Given the description of an element on the screen output the (x, y) to click on. 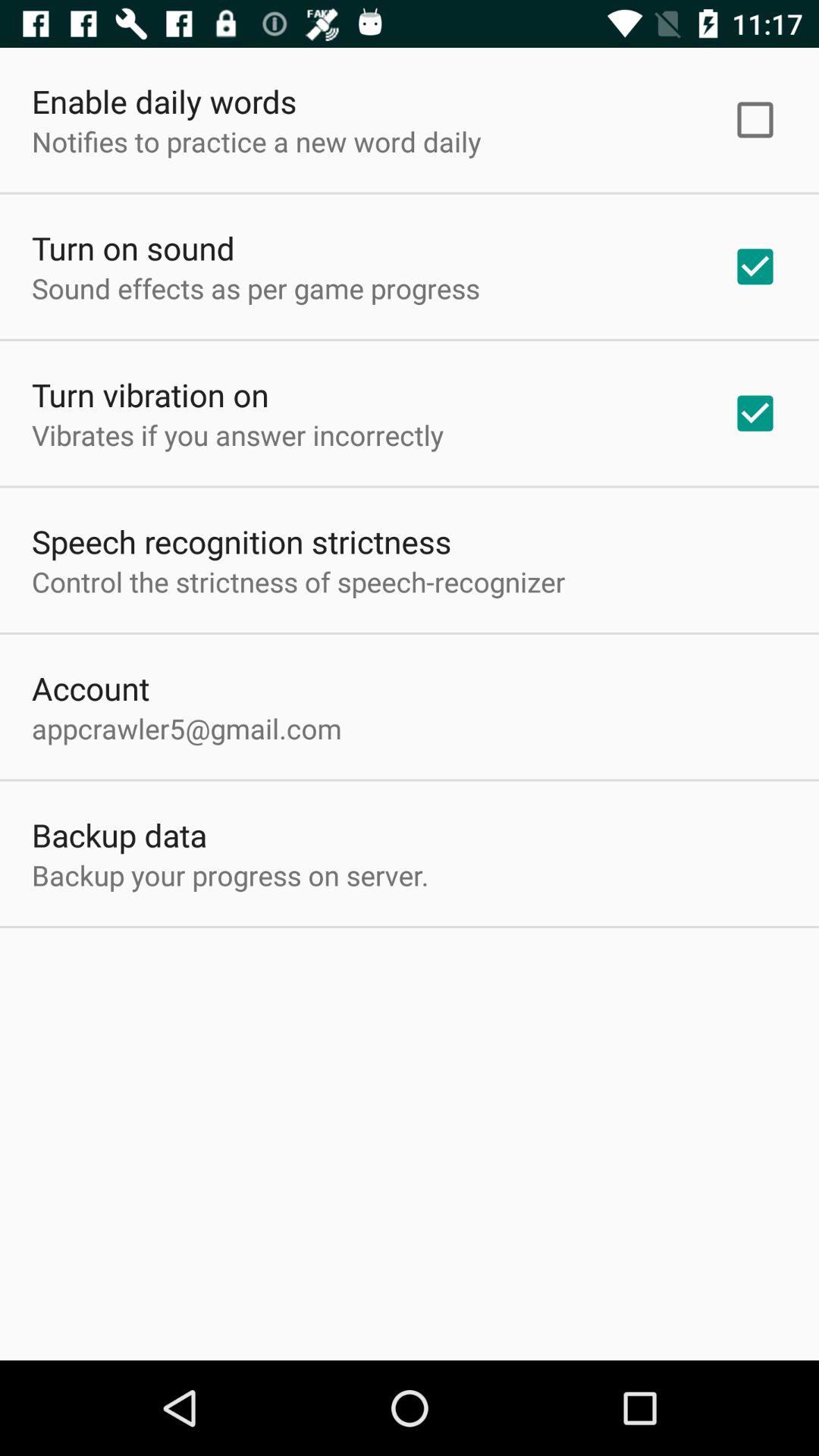
jump to sound effects as icon (255, 288)
